Given the description of an element on the screen output the (x, y) to click on. 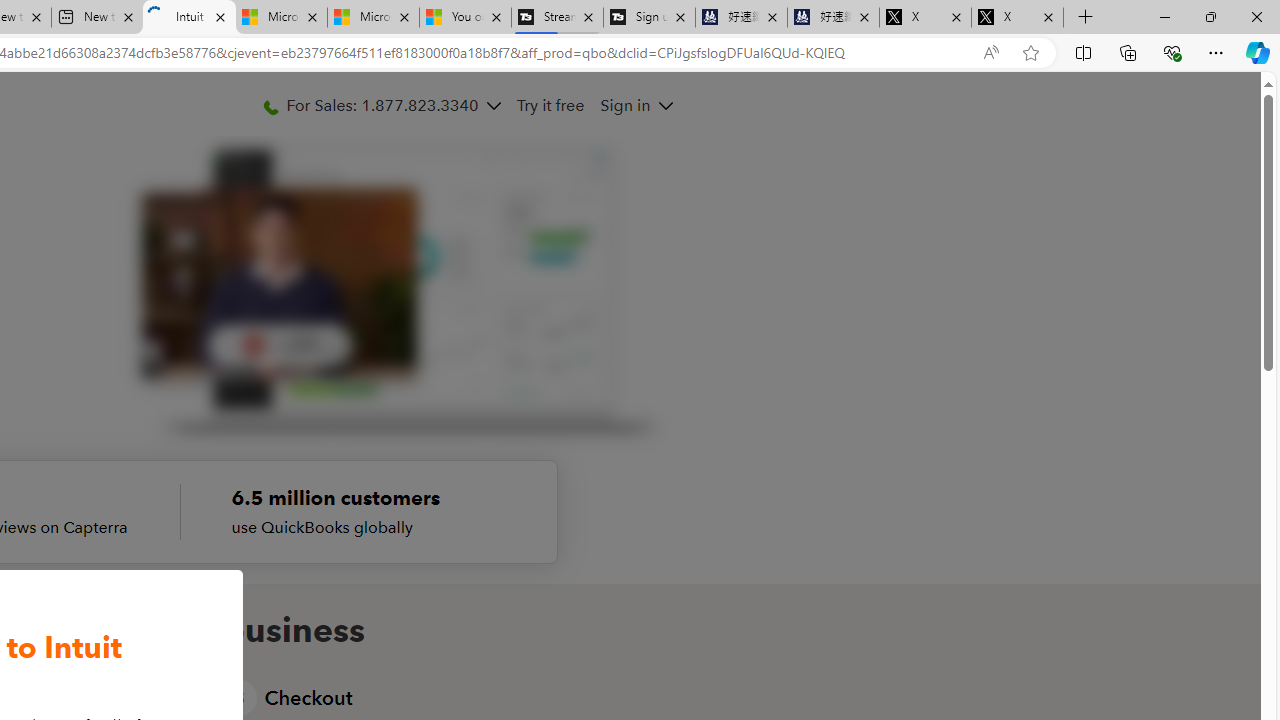
Try it free (552, 105)
Intuit QuickBooks Online - Quickbooks (189, 17)
For Sales: 1.877.823.3340 (381, 105)
PhoneIcon (270, 107)
For Sales: 1.877.823.3340 (381, 105)
